Given the description of an element on the screen output the (x, y) to click on. 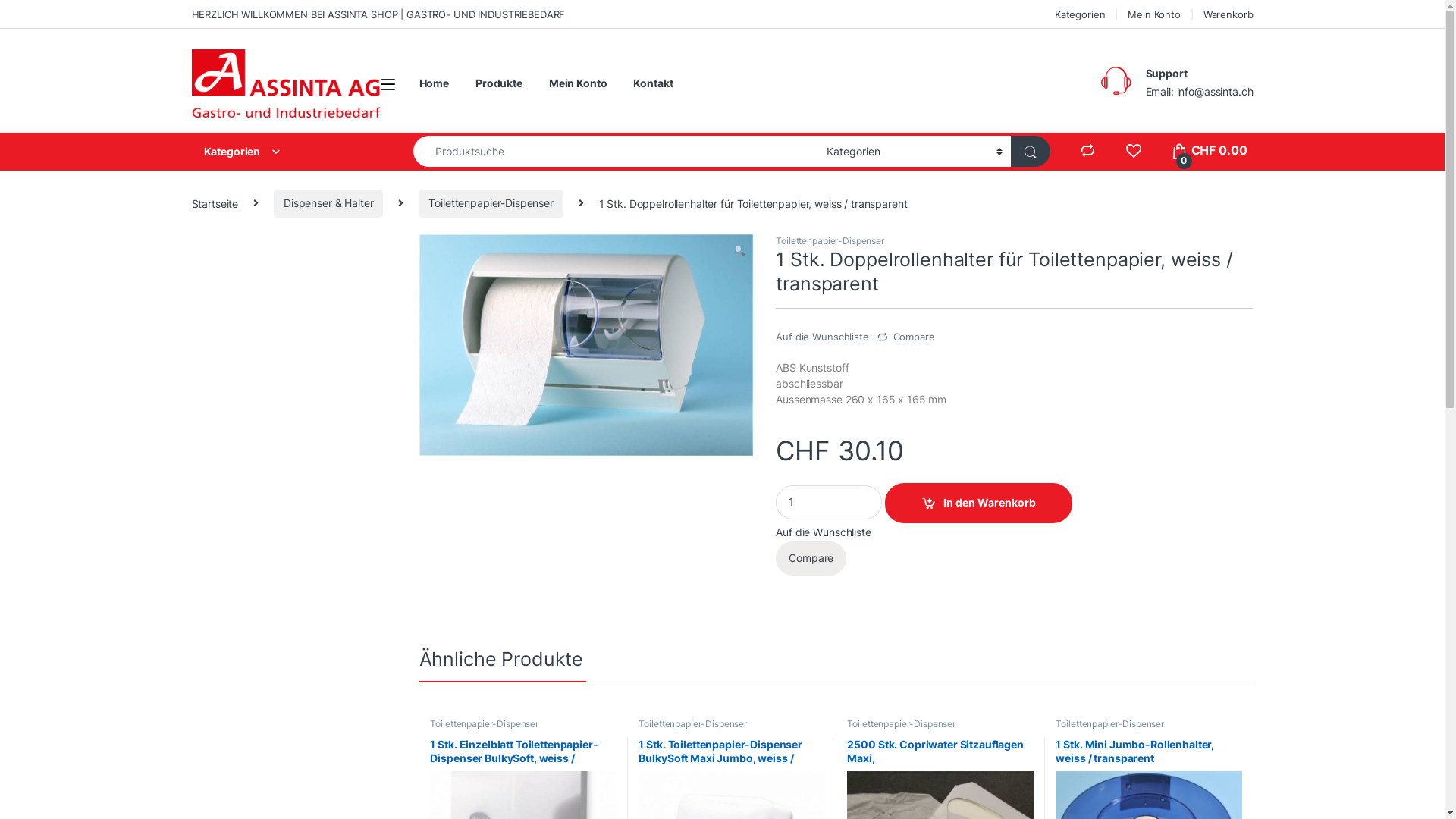
image-321.jpeg Element type: hover (585, 344)
0
CHF 0.00 Element type: text (1208, 150)
Toilettenpapier-Dispenser Element type: text (1109, 723)
Compare Element type: text (905, 331)
Auf die Wunschliste Element type: text (822, 531)
Kategorien Element type: text (1079, 14)
Toilettenpapier-Dispenser Element type: text (483, 723)
Warenkorb Element type: text (1228, 14)
Toilettenpapier-Dispenser Element type: text (490, 203)
Kategorien Element type: text (287, 151)
In den Warenkorb Element type: text (978, 503)
Qty Element type: hover (828, 502)
Compare Element type: text (810, 558)
Mein Konto Element type: text (578, 82)
Produkte Element type: text (498, 82)
Toilettenpapier-Dispenser Element type: text (829, 240)
Auf die Wunschliste Element type: text (821, 336)
Toilettenpapier-Dispenser Element type: text (692, 723)
Kontakt Element type: text (652, 82)
Dispenser & Halter Element type: text (327, 203)
Home Element type: text (433, 82)
Mein Konto Element type: text (1153, 14)
Startseite Element type: text (214, 202)
Toilettenpapier-Dispenser Element type: text (901, 723)
